Given the description of an element on the screen output the (x, y) to click on. 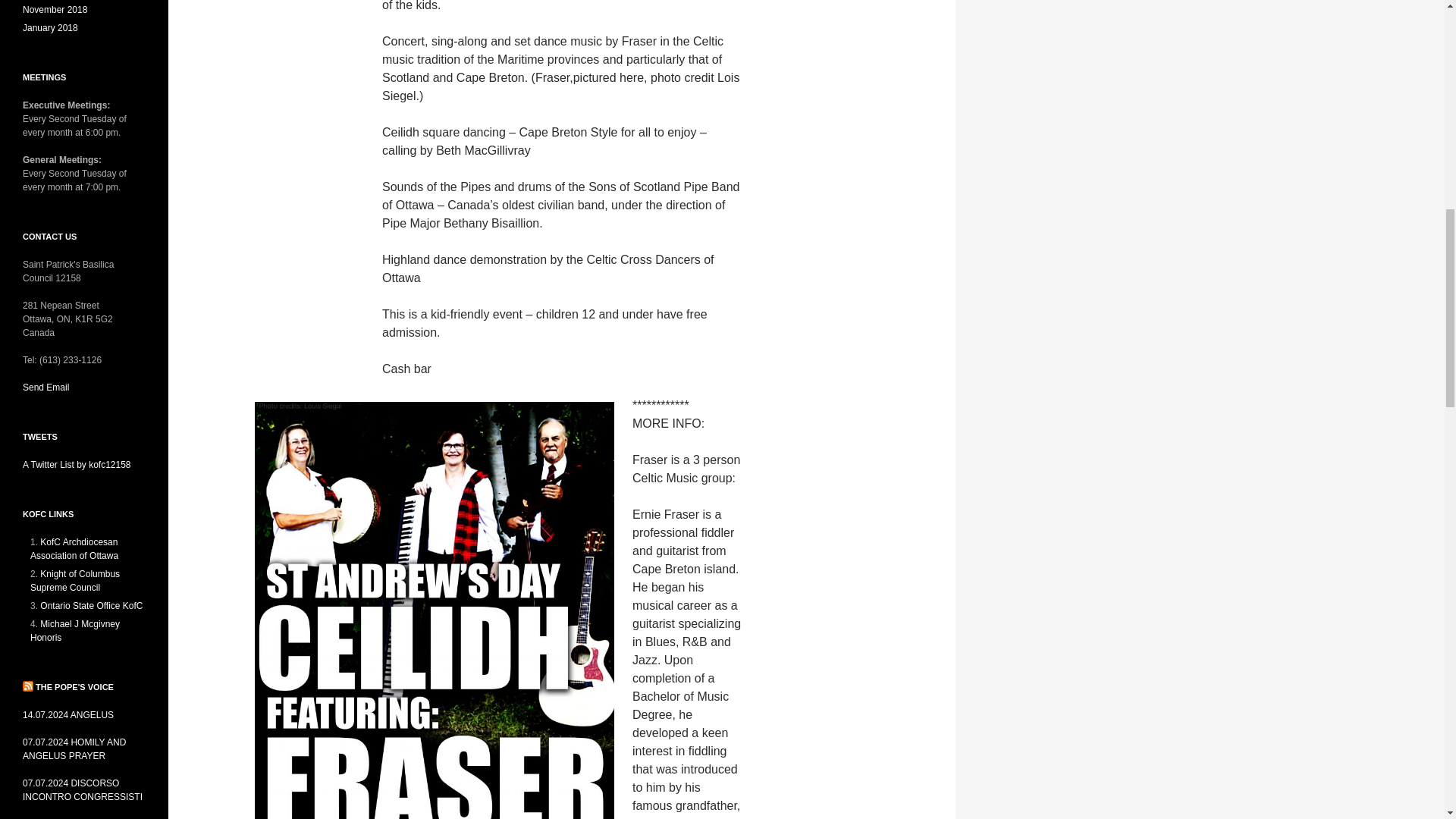
KofC Archdiocesan Association of Ottawa (73, 549)
A Twitter List by kofc12158 (77, 464)
November 2018 (55, 9)
January 2018 (50, 27)
Send Email (45, 387)
